Given the description of an element on the screen output the (x, y) to click on. 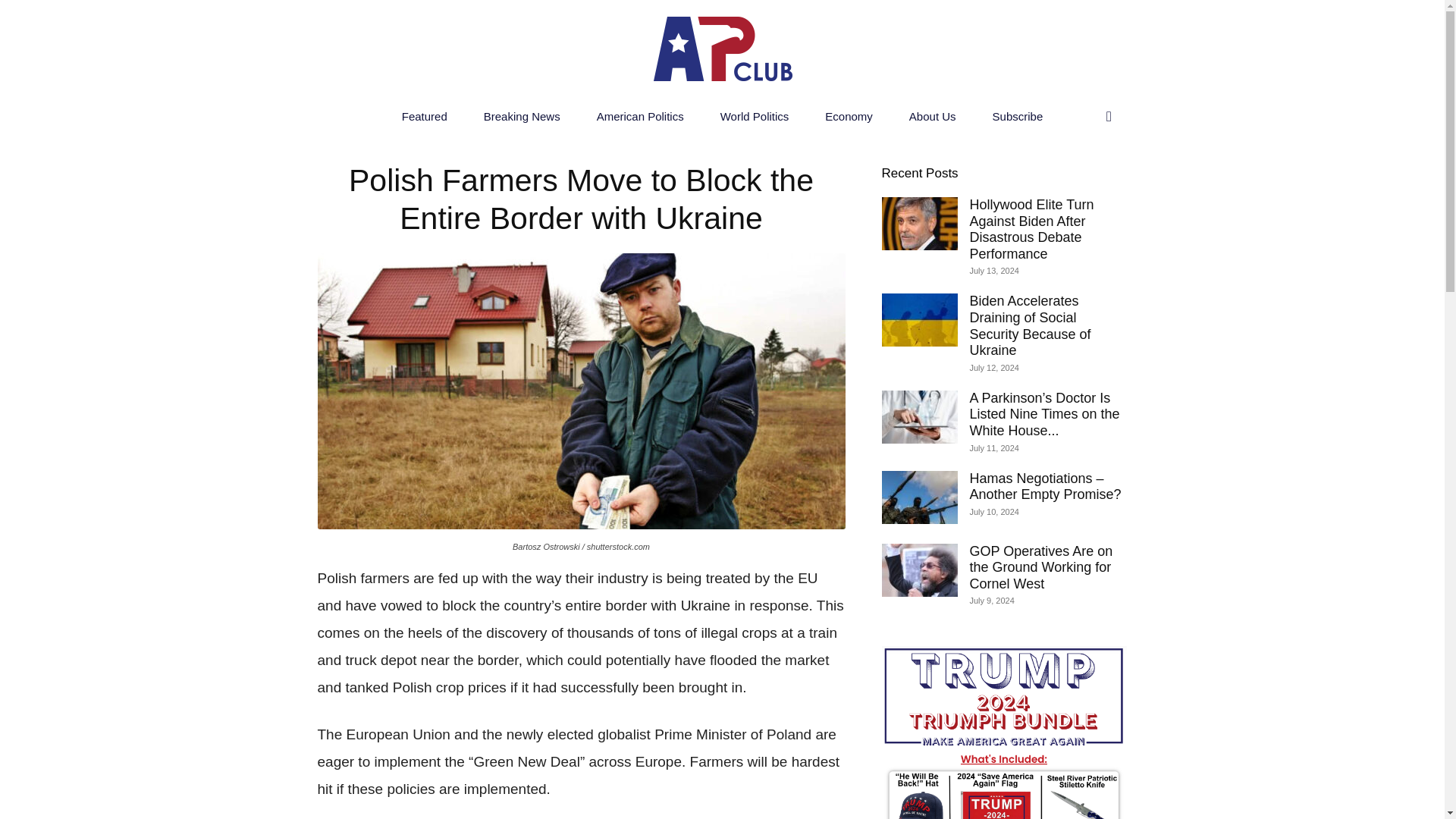
Featured (424, 116)
American Politics (639, 116)
Breaking News (521, 116)
Search (1077, 177)
Subscribe (1017, 116)
World Politics (754, 116)
About Us (932, 116)
Economy (848, 116)
